Given the description of an element on the screen output the (x, y) to click on. 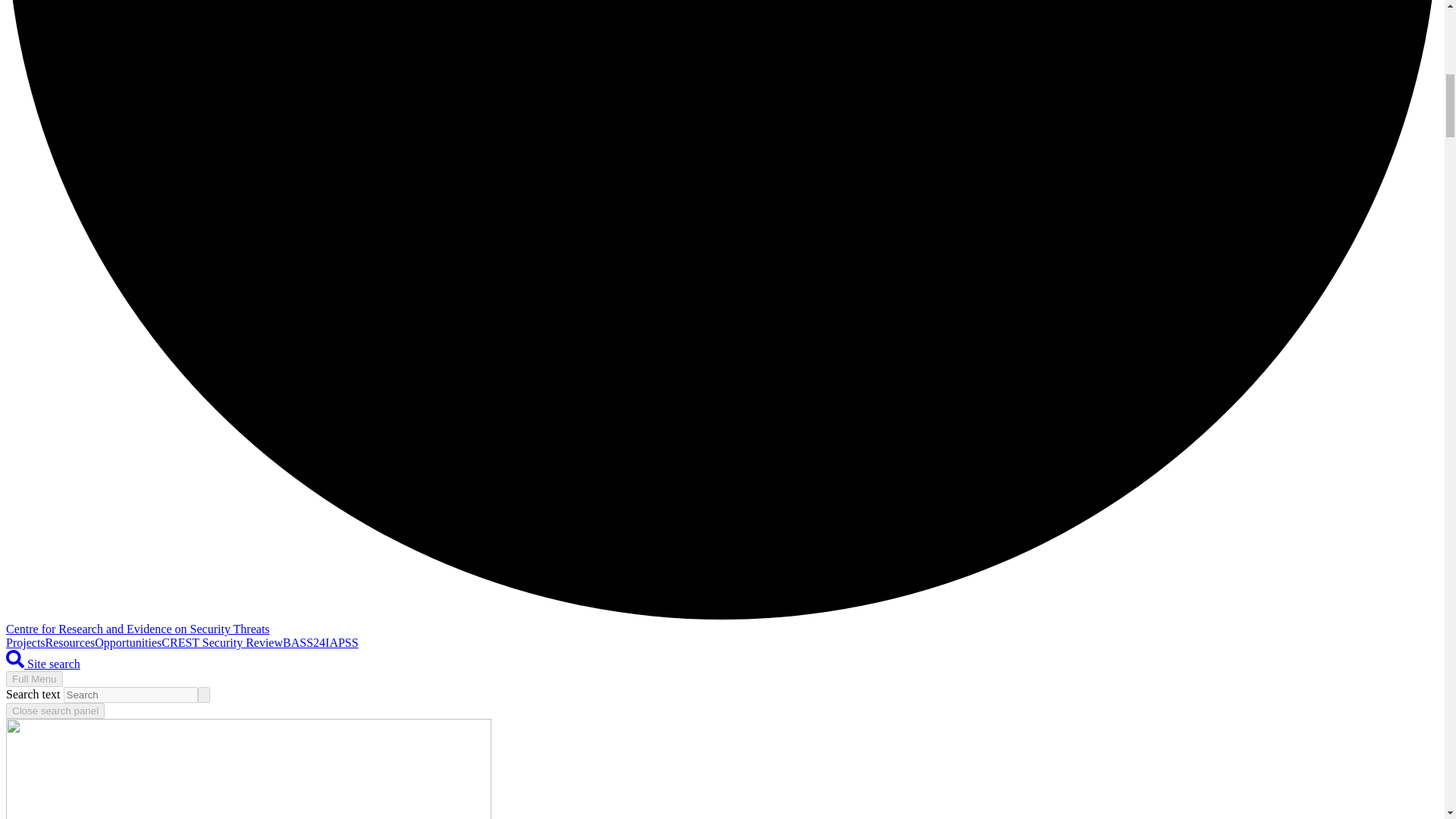
Projects (25, 642)
Full Menu (33, 678)
BASS24 (303, 642)
CREST Security Review (221, 642)
Resources (70, 642)
Search Site search (42, 663)
IAPSS (341, 642)
Search (14, 659)
Opportunities (127, 642)
Close search panel (54, 710)
